Given the description of an element on the screen output the (x, y) to click on. 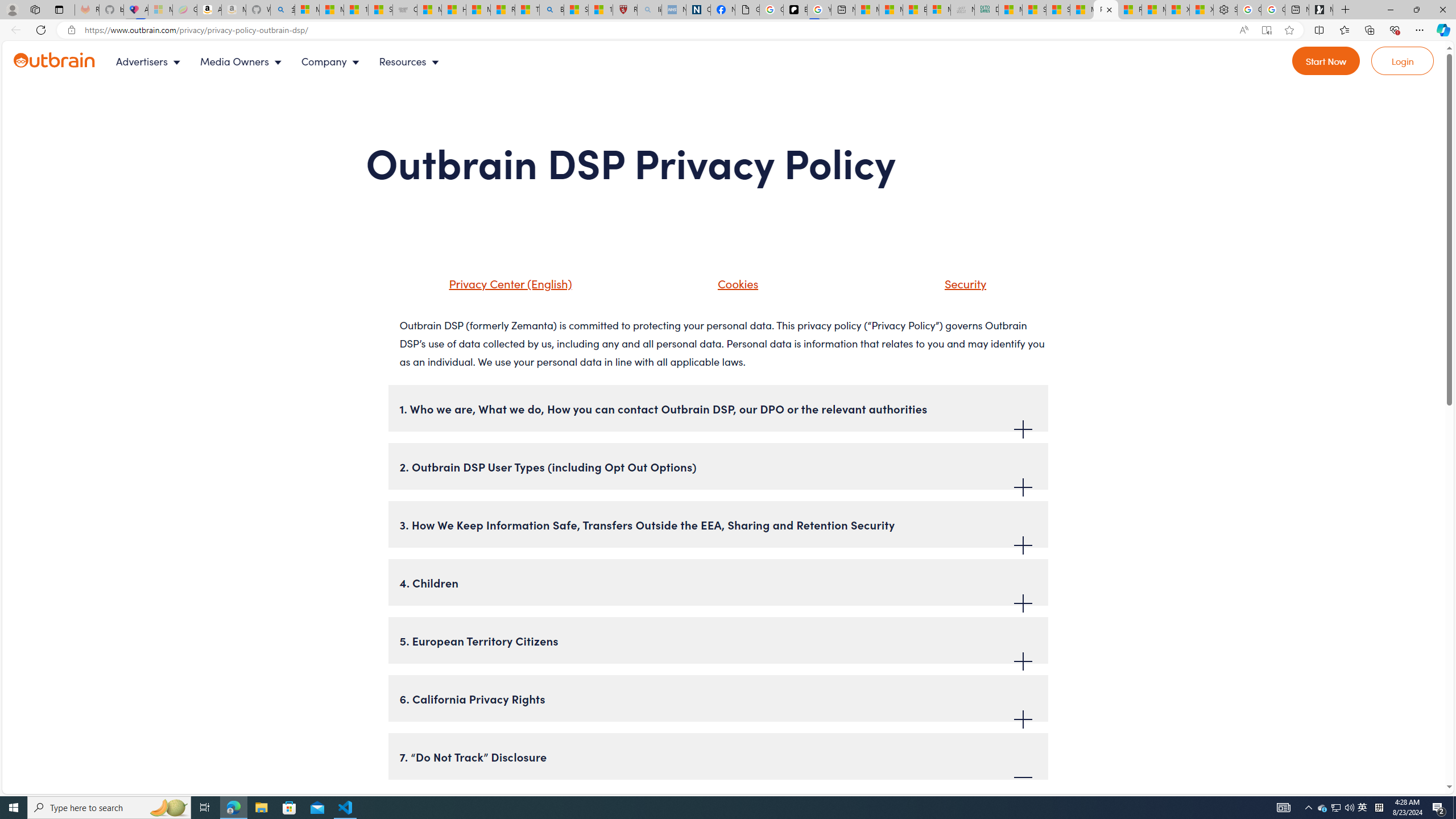
R******* | Trusted Community Engagement and Contributions (1129, 9)
Security (951, 287)
Go to login (1402, 60)
Security (963, 282)
